Given the description of an element on the screen output the (x, y) to click on. 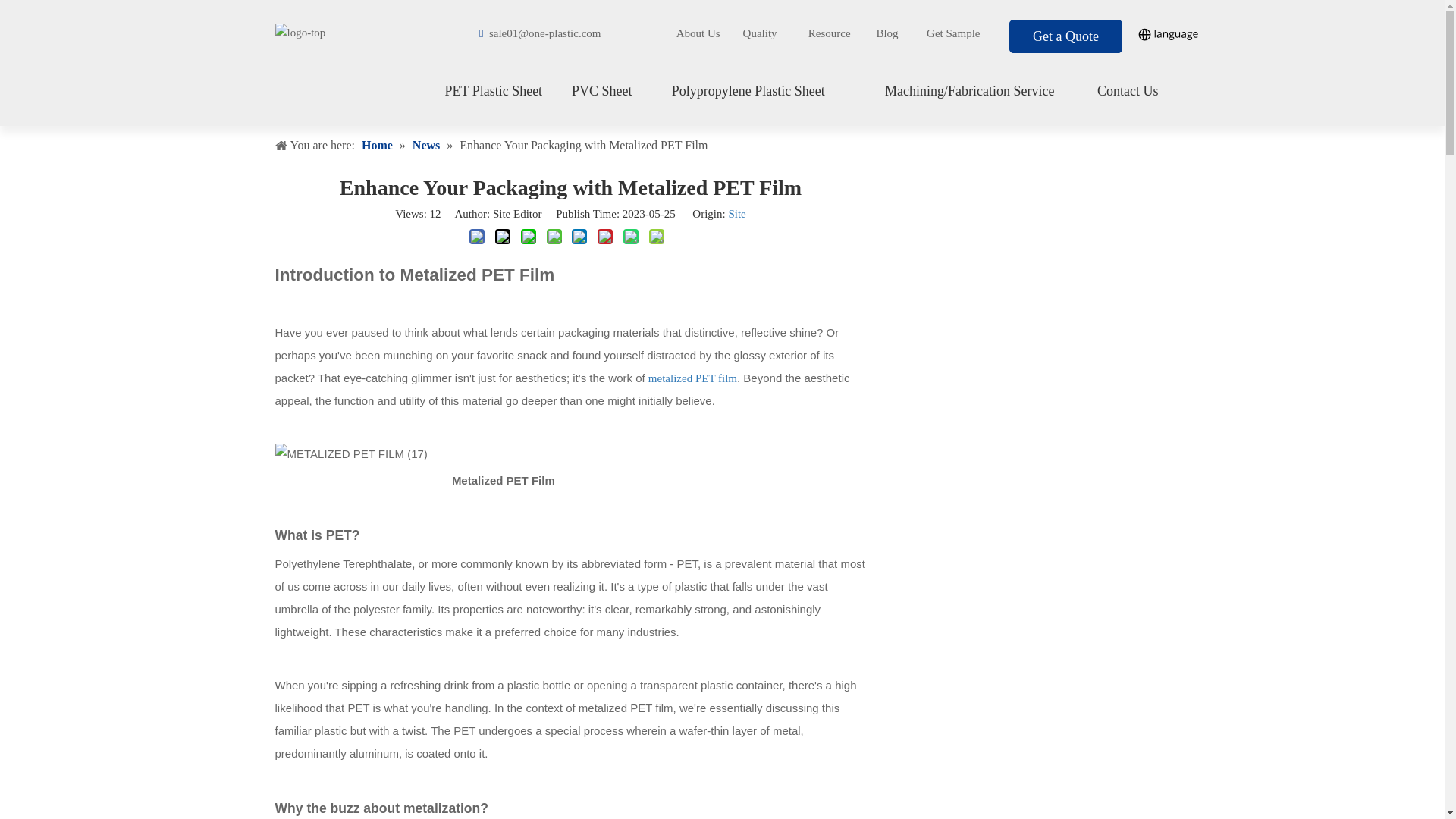
Get a Quote (1065, 36)
PVC Sheet (601, 90)
About Us (698, 33)
Quality (759, 33)
Blog (887, 33)
PET Plastic Sheet (493, 90)
Get Sample (952, 33)
logo-top (299, 33)
Resource (829, 33)
